Given the description of an element on the screen output the (x, y) to click on. 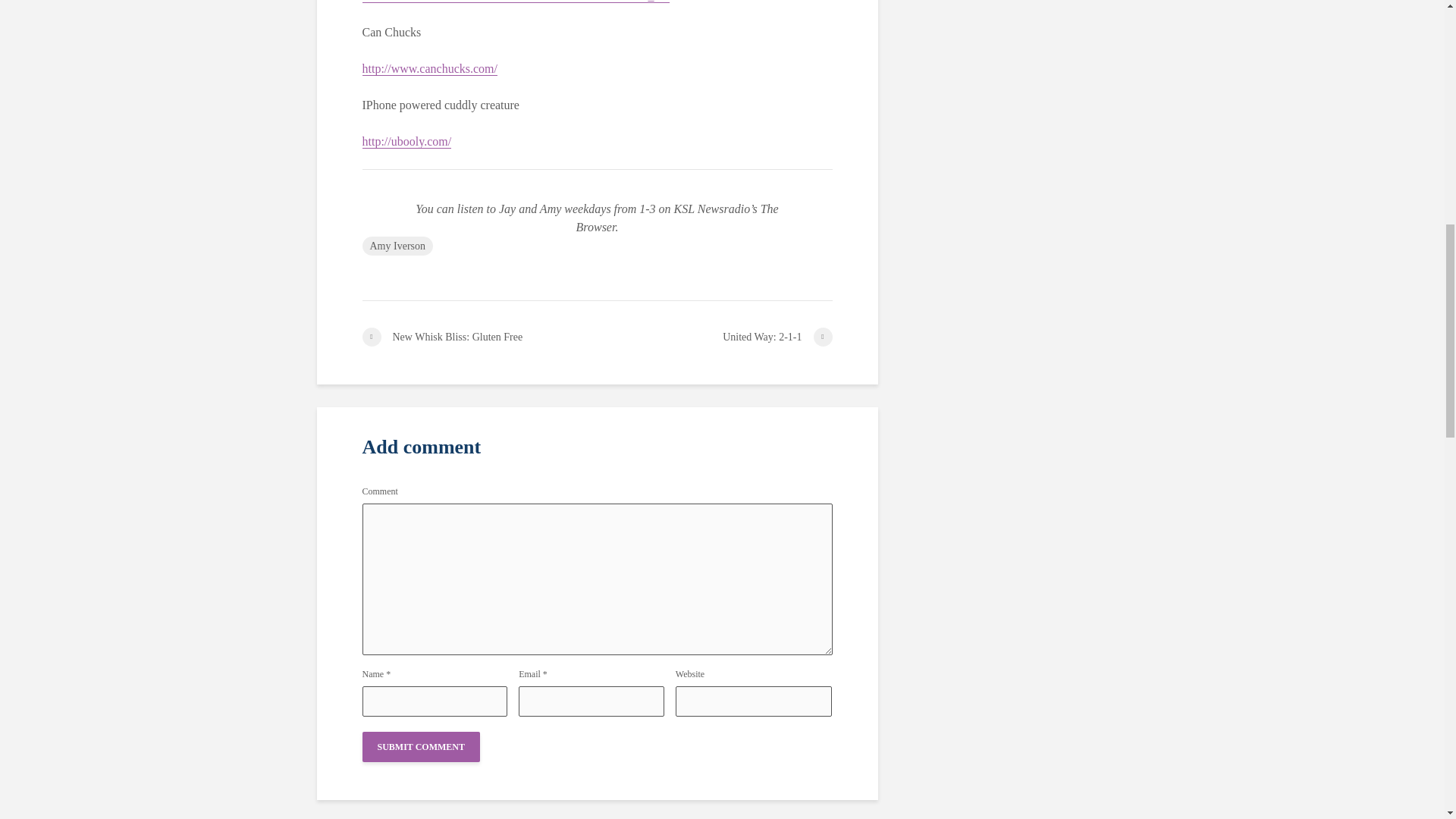
Submit Comment (421, 747)
Amy Iverson (397, 245)
Submit Comment (421, 747)
New Whisk Bliss: Gluten Free (479, 336)
United Way: 2-1-1 (714, 336)
